Given the description of an element on the screen output the (x, y) to click on. 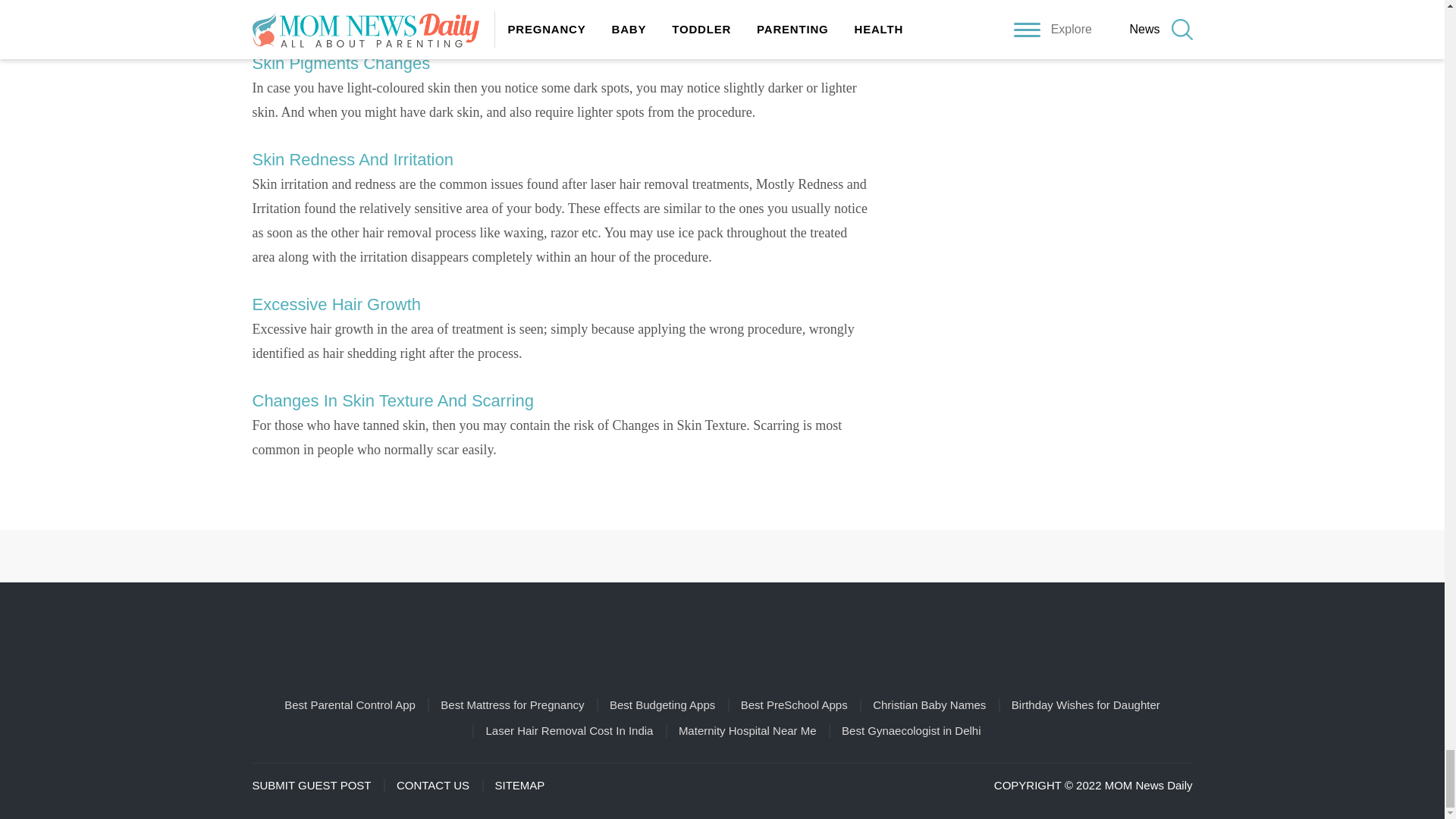
facebook (657, 555)
pinterest (700, 555)
instagram (743, 555)
twitter (787, 555)
